Given the description of an element on the screen output the (x, y) to click on. 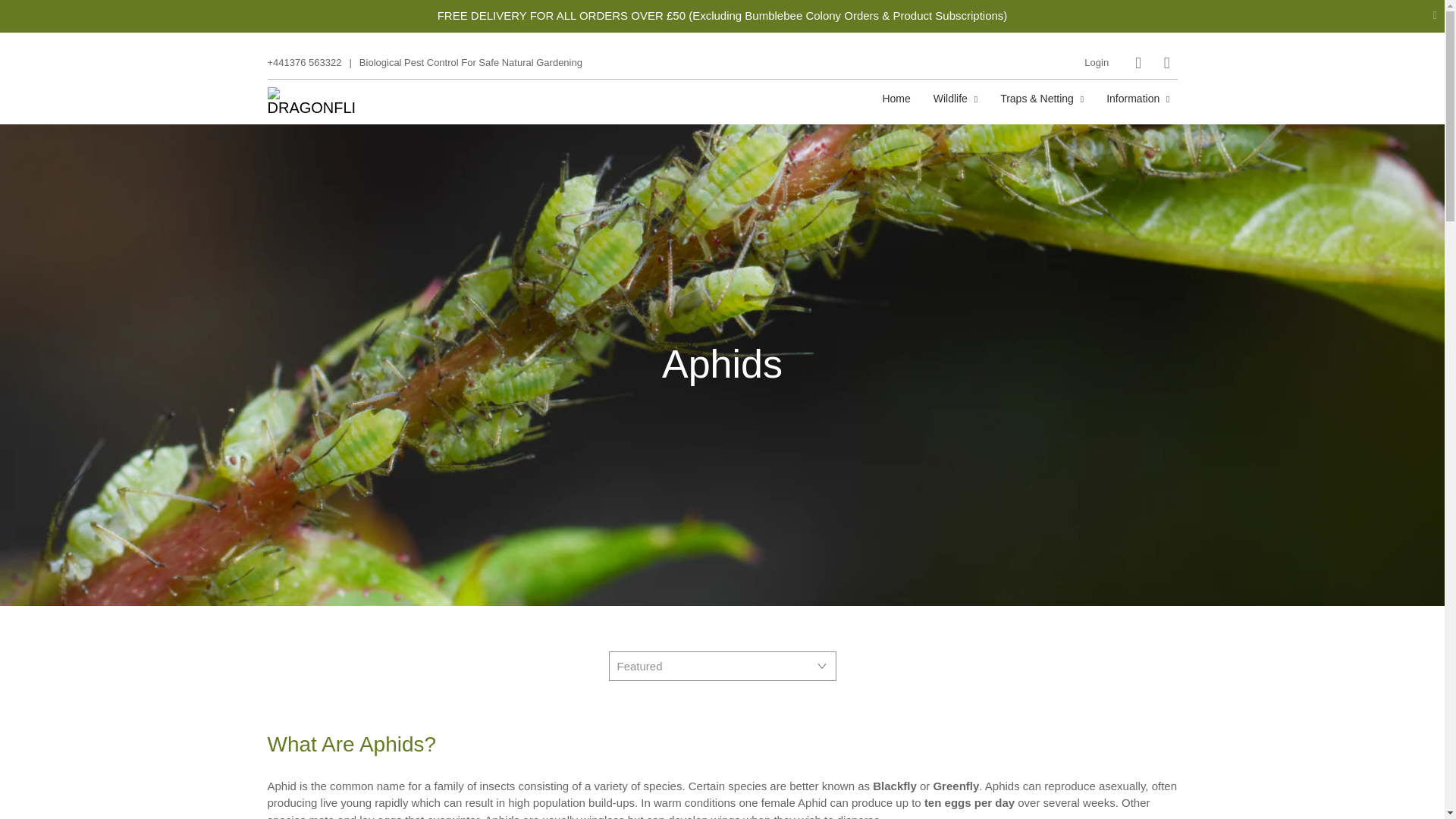
Home (896, 97)
My Account  (1096, 61)
Login (1096, 61)
Wildlife (955, 97)
Search (1137, 61)
Translation missing: en.layout.general.title (1166, 61)
Information (1137, 97)
